Given the description of an element on the screen output the (x, y) to click on. 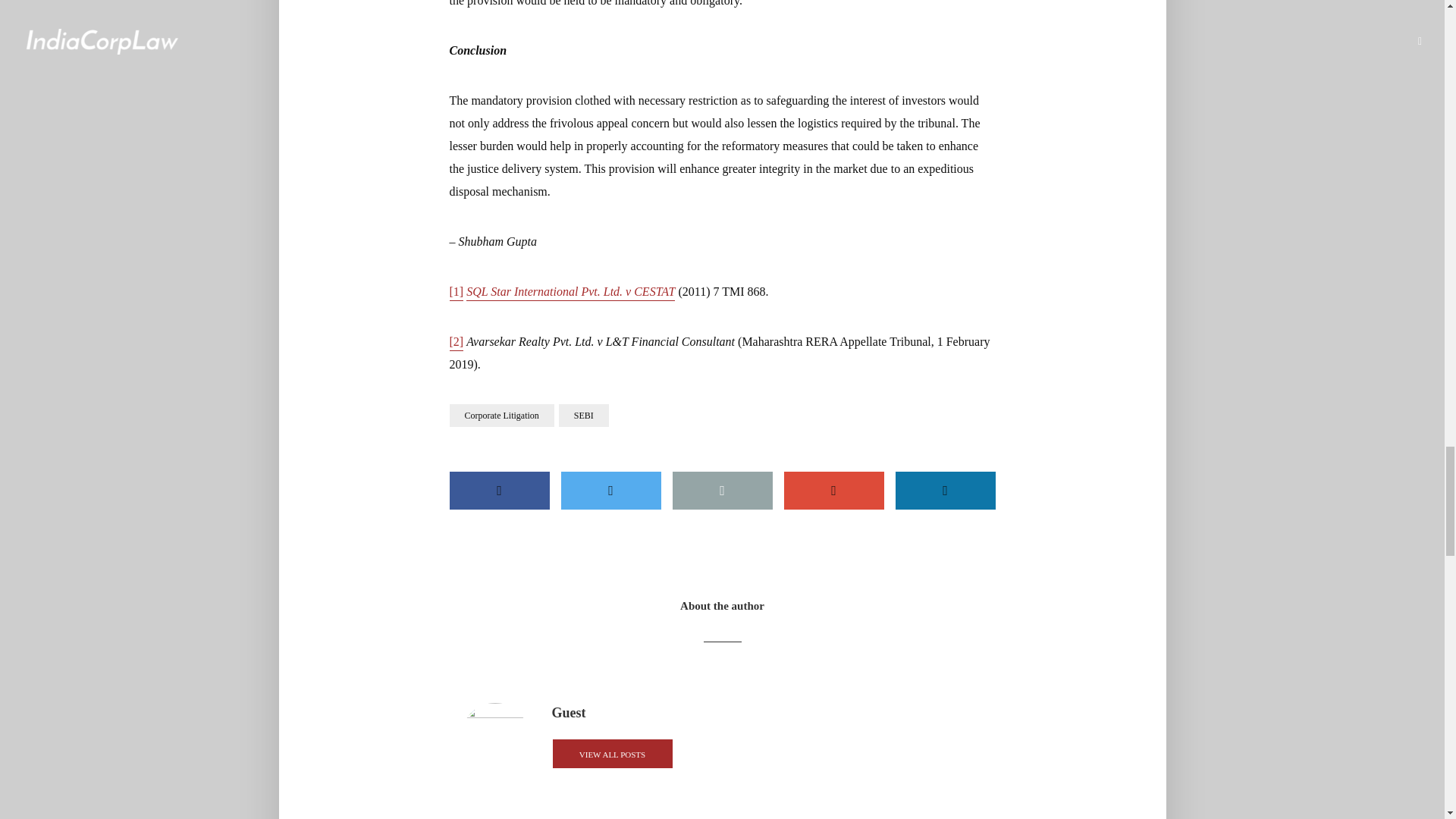
SEBI (583, 415)
VIEW ALL POSTS (611, 753)
SQL Star International Pvt. Ltd. v CESTAT (570, 293)
Corporate Litigation (500, 415)
